Given the description of an element on the screen output the (x, y) to click on. 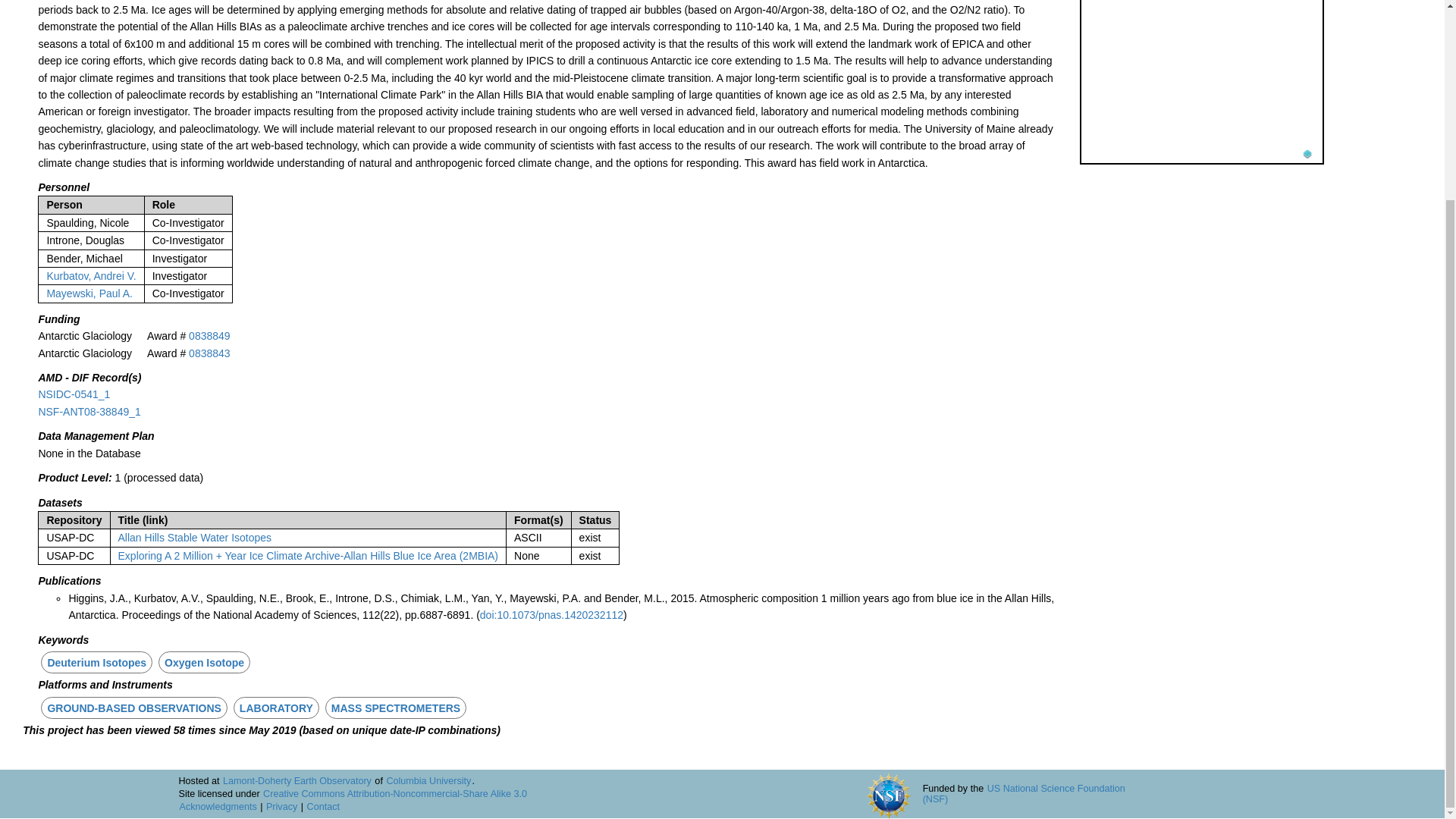
Kurbatov, Andrei V. (90, 275)
